Given the description of an element on the screen output the (x, y) to click on. 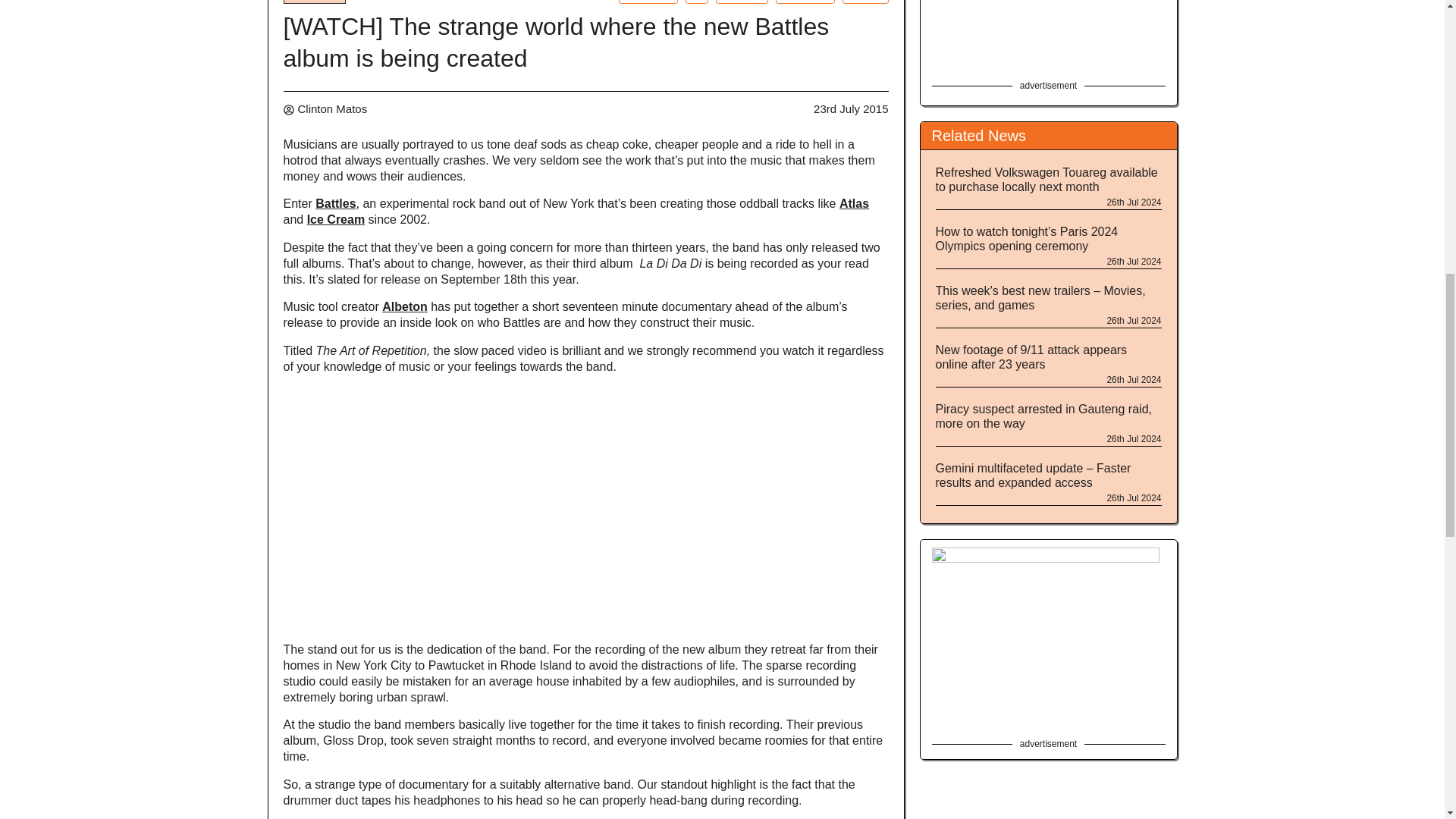
Battles: The Art of Repetition (373, 350)
Battles: The Art of Repetition (583, 358)
